Given the description of an element on the screen output the (x, y) to click on. 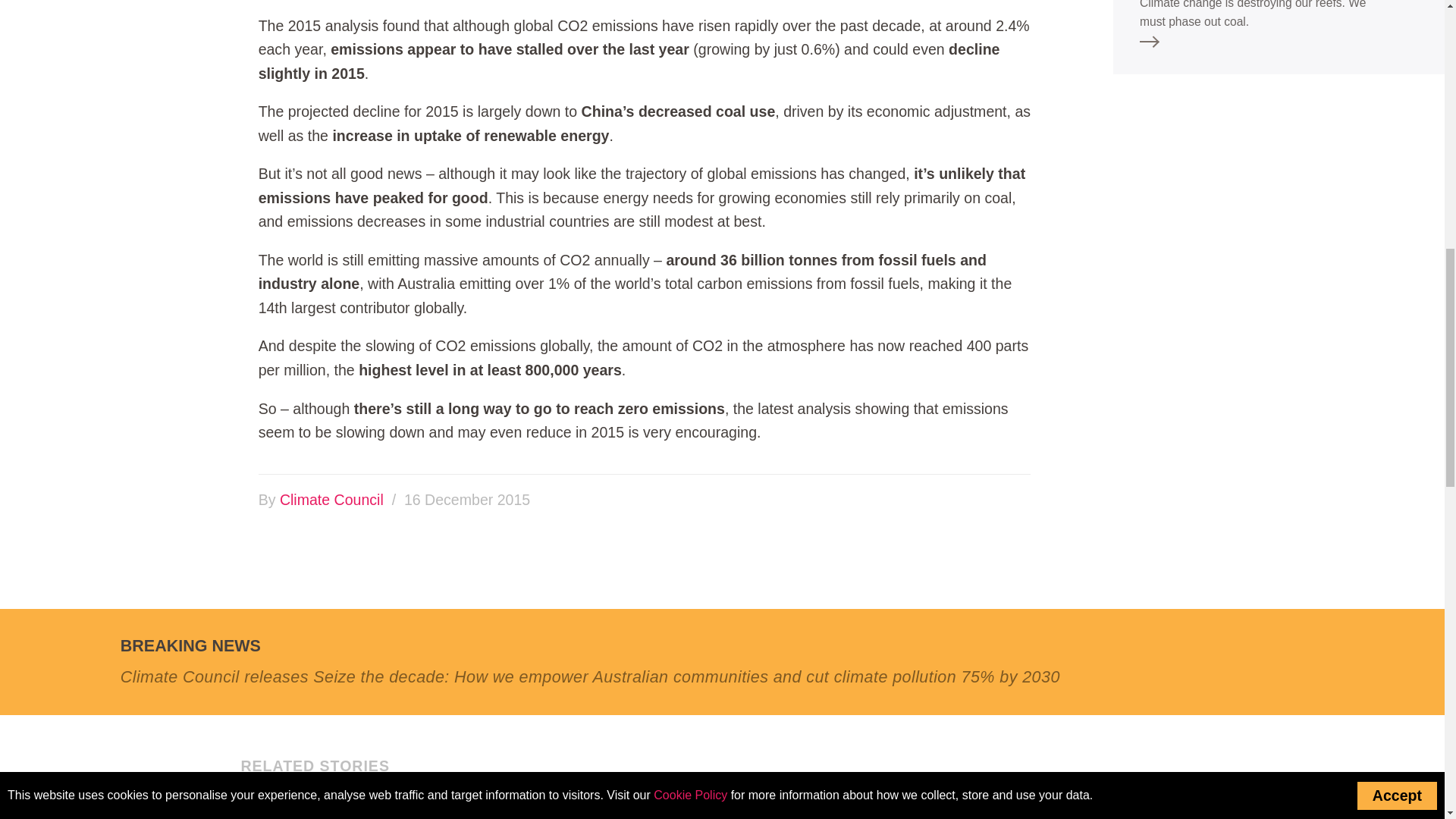
Posts by Climate Council (331, 499)
